Given the description of an element on the screen output the (x, y) to click on. 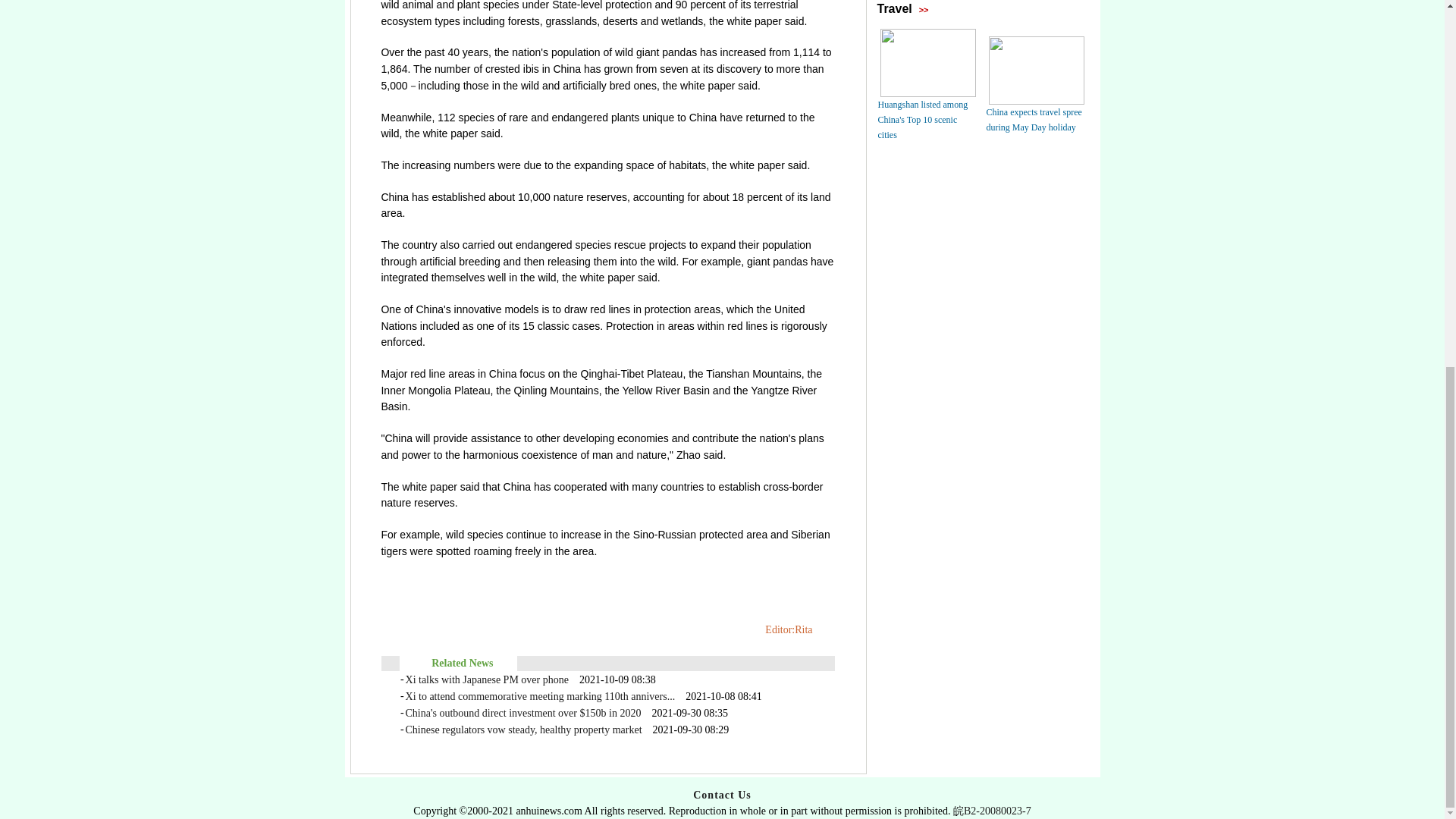
Chinese regulators vow steady, healthy property market (524, 729)
Xi to attend commemorative meeting marking 110th annivers... (540, 696)
Xi talks with Japanese PM over phone (487, 679)
Travel (893, 8)
Contact Us (722, 794)
